Given the description of an element on the screen output the (x, y) to click on. 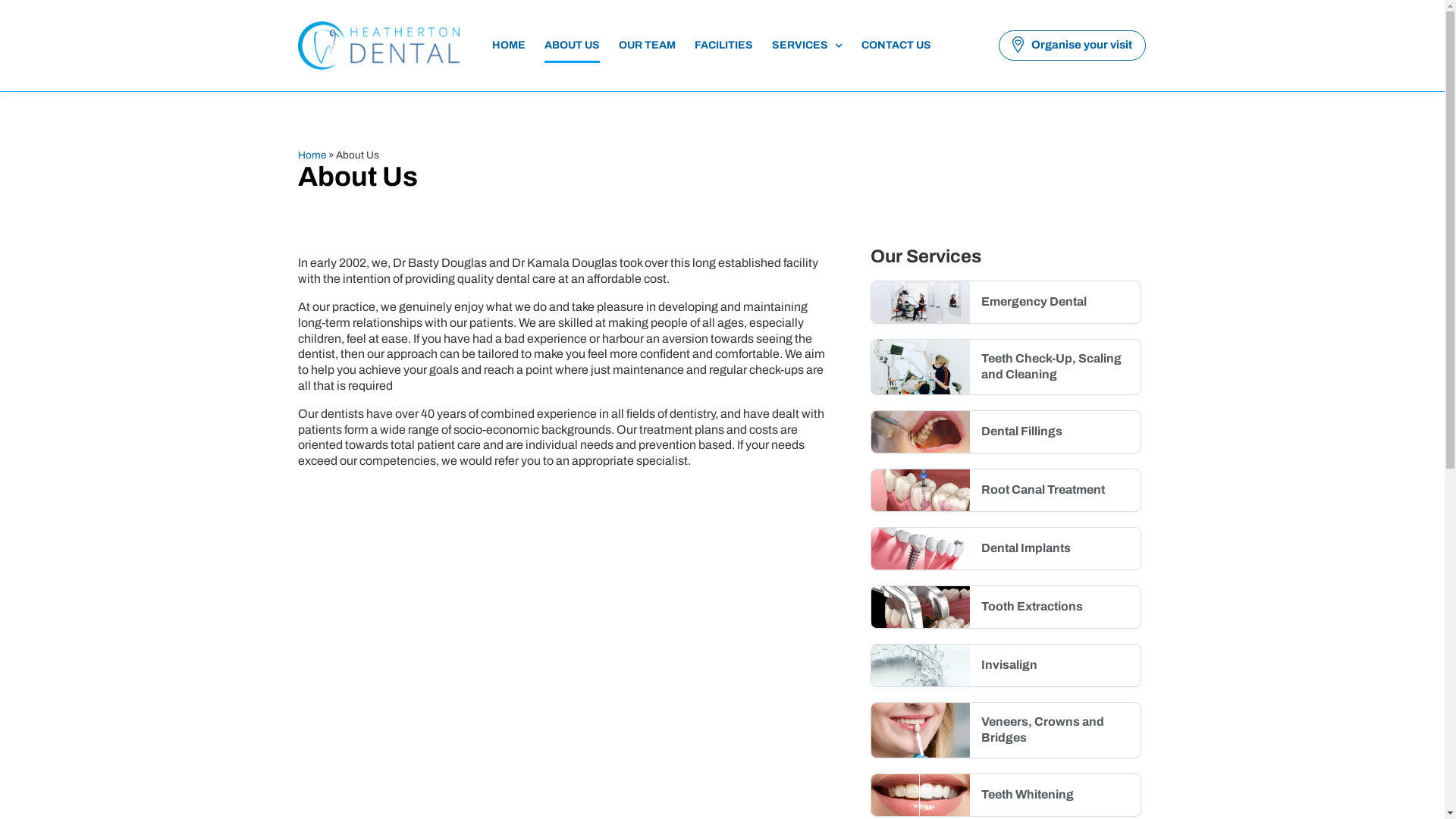
ABOUT US Element type: text (571, 45)
Teeth Whitening Element type: text (1005, 794)
Dental Fillings Element type: text (1005, 431)
Tooth Extractions Element type: text (1005, 606)
Organise your visit Element type: text (1071, 45)
Teeth Check-Up, Scaling and Cleaning Element type: text (1005, 366)
Emergency Dental Element type: text (1005, 302)
HOME Element type: text (508, 45)
Root Canal Treatment Element type: text (1005, 490)
CONTACT US Element type: text (896, 45)
Dental Implants Element type: text (1005, 548)
Veneers, Crowns and Bridges Element type: text (1005, 729)
SERVICES Element type: text (806, 45)
FACILITIES Element type: text (723, 45)
Home Element type: text (311, 154)
OUR TEAM Element type: text (646, 45)
Invisalign Element type: text (1005, 665)
